Given the description of an element on the screen output the (x, y) to click on. 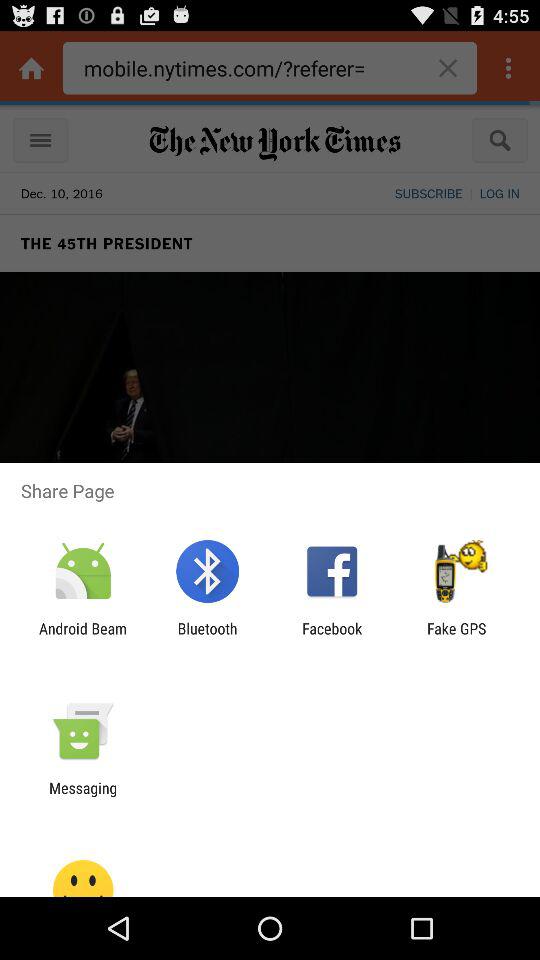
open the app to the right of android beam icon (207, 637)
